Given the description of an element on the screen output the (x, y) to click on. 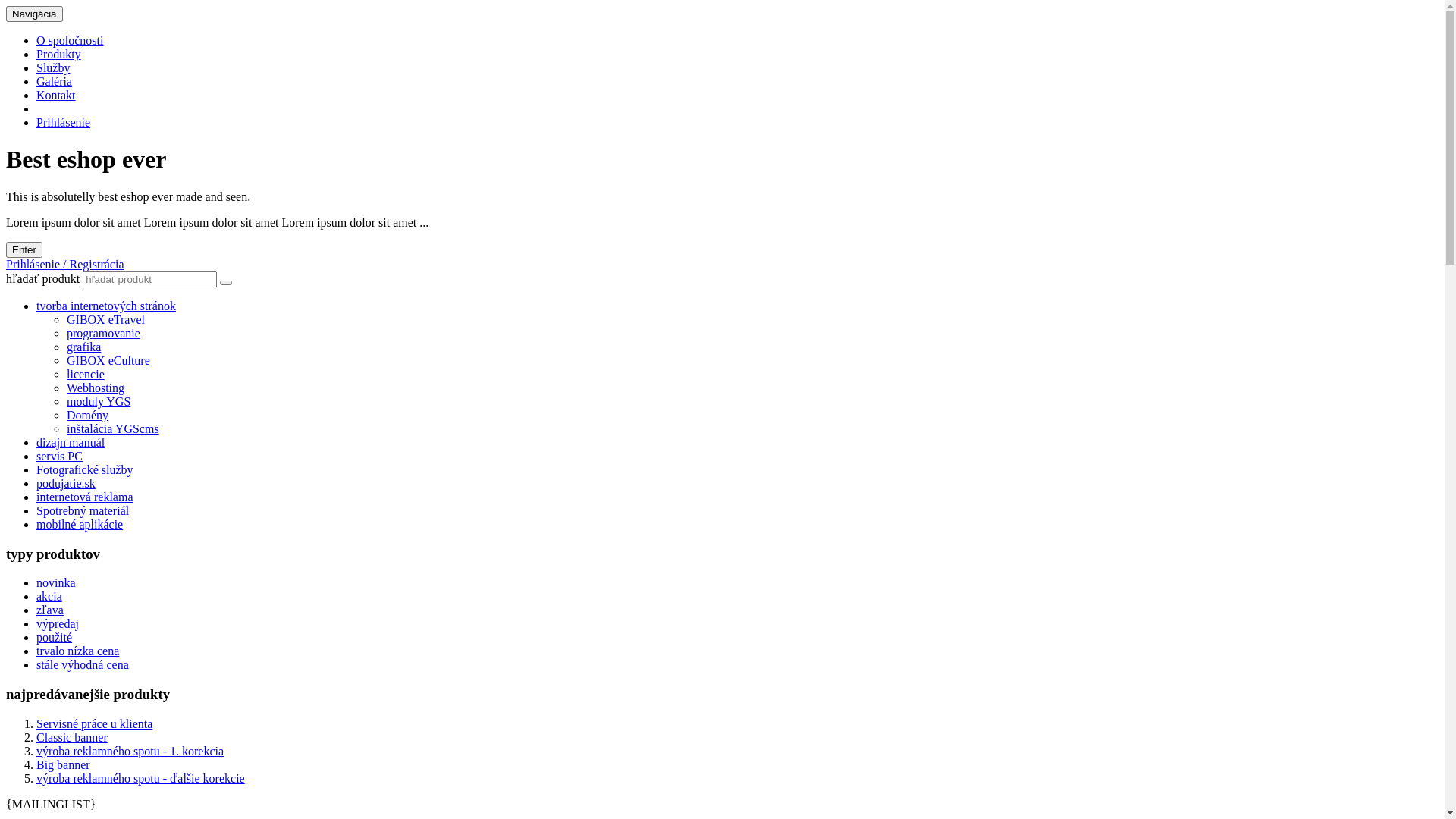
servis PC Element type: text (59, 455)
podujatie.sk Element type: text (65, 482)
Classic banner Element type: text (71, 737)
Enter Element type: text (24, 249)
Kontakt Element type: text (55, 94)
GIBOX eTravel Element type: text (105, 319)
Big banner Element type: text (63, 764)
novinka Element type: text (55, 582)
licencie Element type: text (85, 373)
Produkty Element type: text (58, 53)
akcia Element type: text (49, 595)
Webhosting Element type: text (95, 387)
programovanie Element type: text (103, 332)
moduly YGS Element type: text (98, 401)
GIBOX eCulture Element type: text (108, 360)
grafika Element type: text (83, 346)
